Given the description of an element on the screen output the (x, y) to click on. 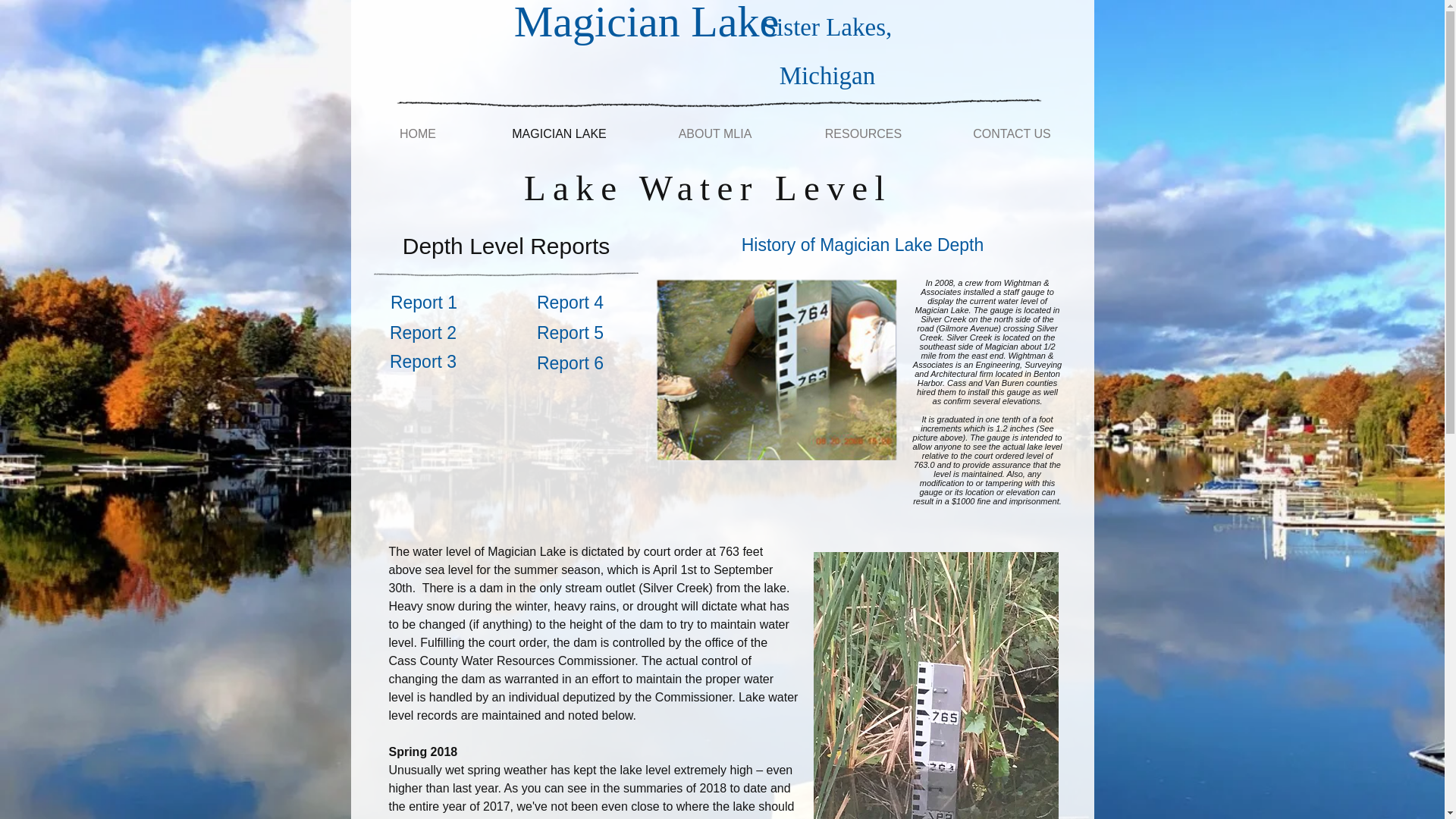
Report 1 (423, 302)
Report 4 (570, 302)
History of Magician Lake Depth (861, 245)
Report 5 (570, 332)
Report 3 (423, 361)
RESOURCES (862, 134)
CONTACT US (1011, 134)
HOME (417, 134)
MAGICIAN LAKE (558, 134)
Report 2 (423, 332)
